Given the description of an element on the screen output the (x, y) to click on. 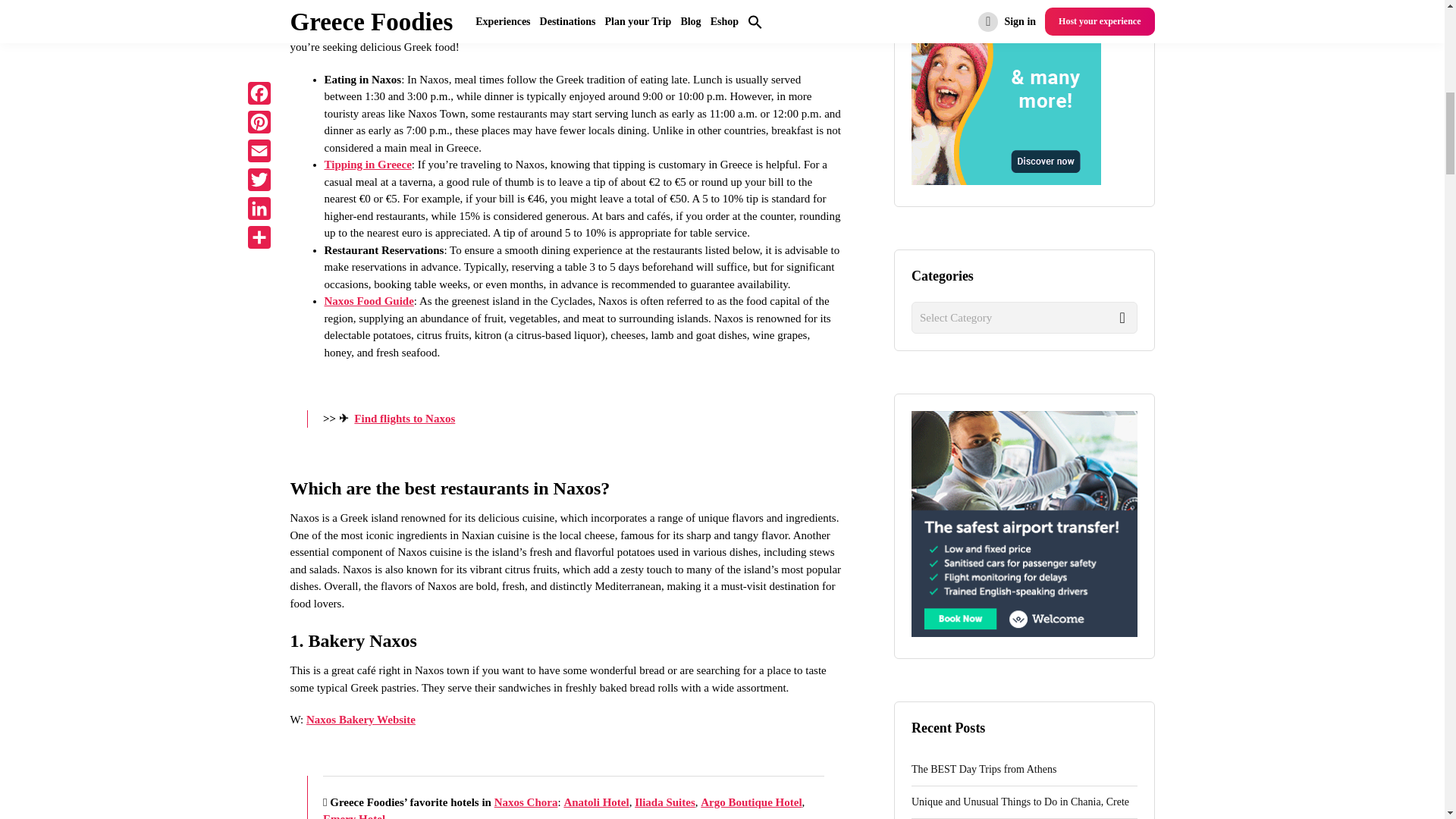
Anatoli Hotel (595, 802)
Find flights to Naxos (403, 418)
Naxos Bakery Website (359, 719)
Emery Hotel (354, 816)
Tipping in Greece (368, 164)
Naxos Chora (526, 802)
Naxos Food Guide (368, 300)
Iliada Suites (664, 802)
Argo Boutique Hotel (751, 802)
